Given the description of an element on the screen output the (x, y) to click on. 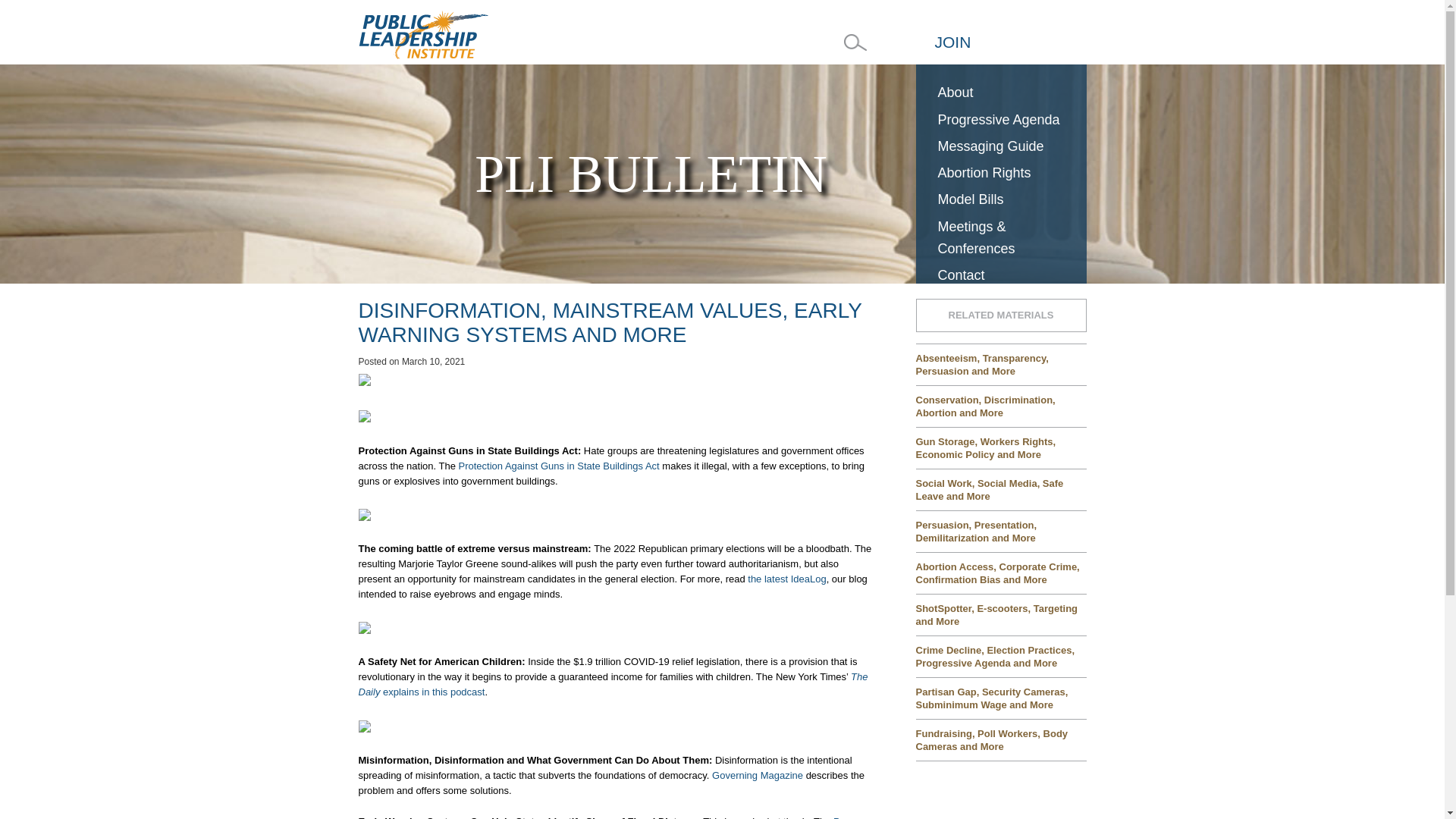
the latest IdeaLog (786, 578)
Protection Against Guns in State Buildings Act (558, 464)
JOIN (952, 41)
Absenteeism, Transparency, Persuasion and More (1000, 363)
Messaging Guide (1000, 146)
Progressive Agenda (1000, 120)
Search (24, 8)
Conservation, Discrimination, Abortion and More (1000, 404)
Contact (1000, 275)
Gun Storage, Workers Rights, Economic Policy and More (1000, 447)
Fundraising, Poll Workers, Body Cameras and More (1000, 739)
Model Bills (1000, 199)
Partisan Gap, Security Cameras, Subminimum Wage and More (1000, 698)
